Given the description of an element on the screen output the (x, y) to click on. 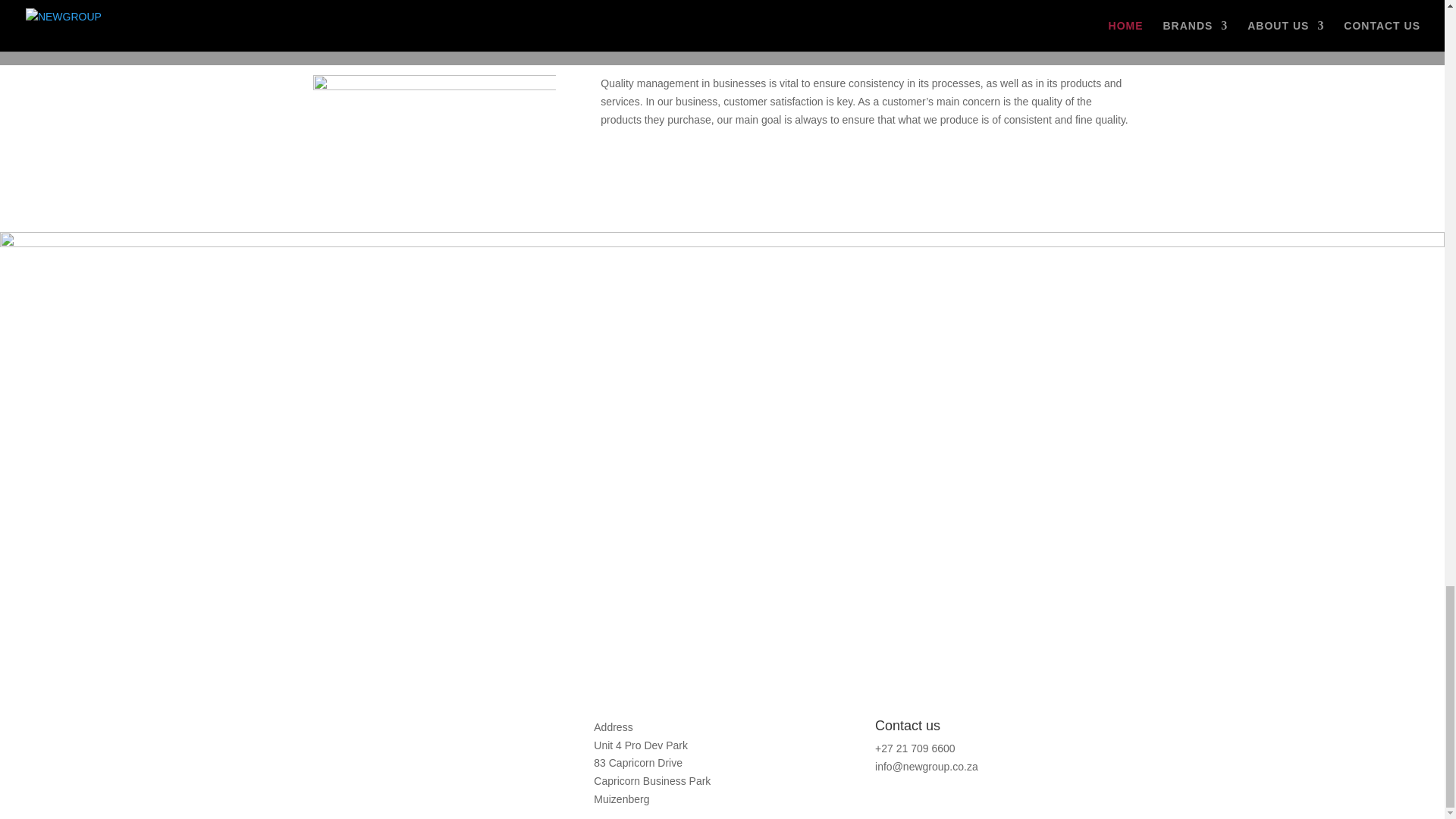
Read more about Herbex Health (339, 749)
the-business-of-quality (433, 148)
Herbex (339, 749)
